Given the description of an element on the screen output the (x, y) to click on. 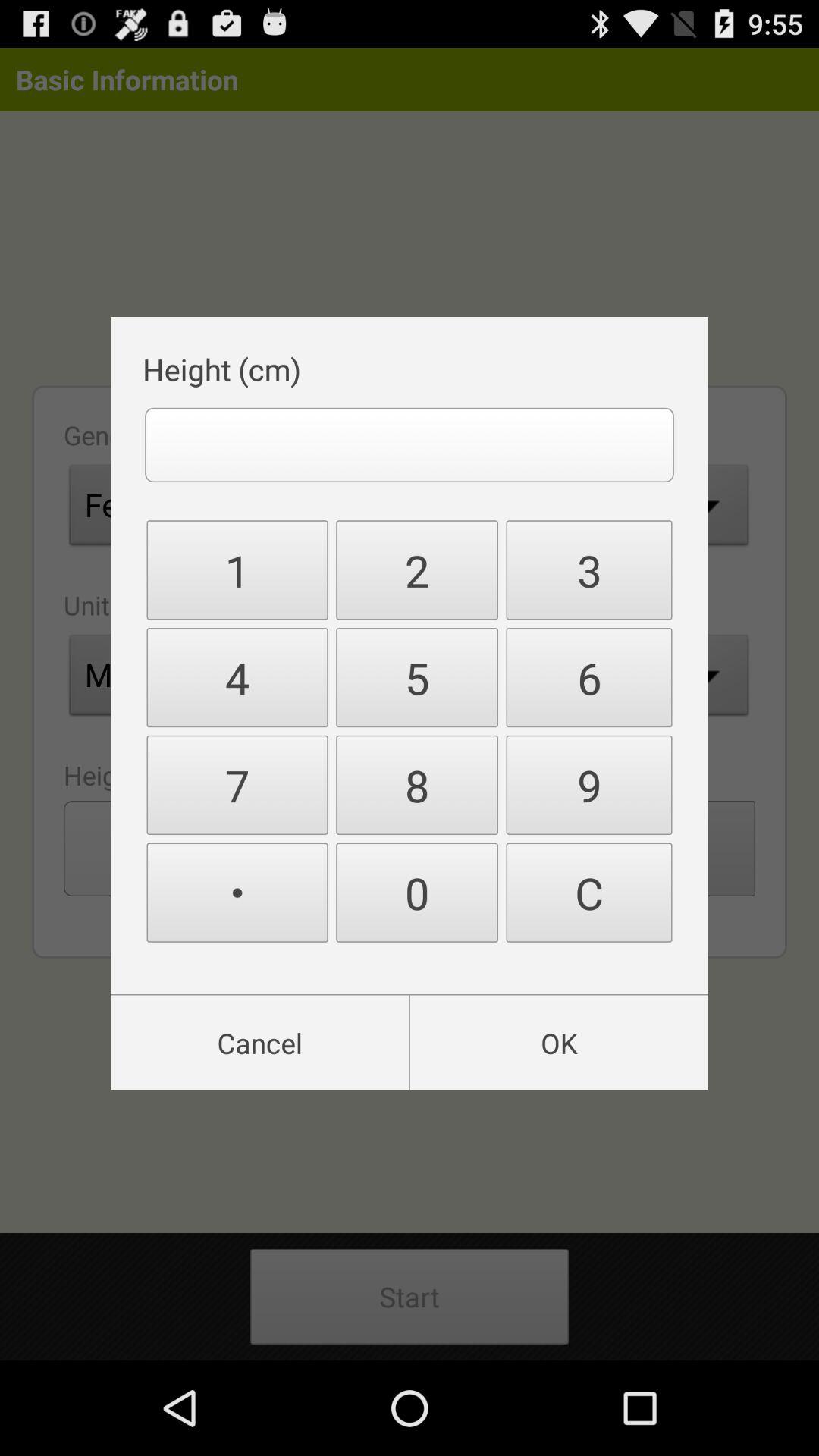
choose the item above the 7 (237, 677)
